Given the description of an element on the screen output the (x, y) to click on. 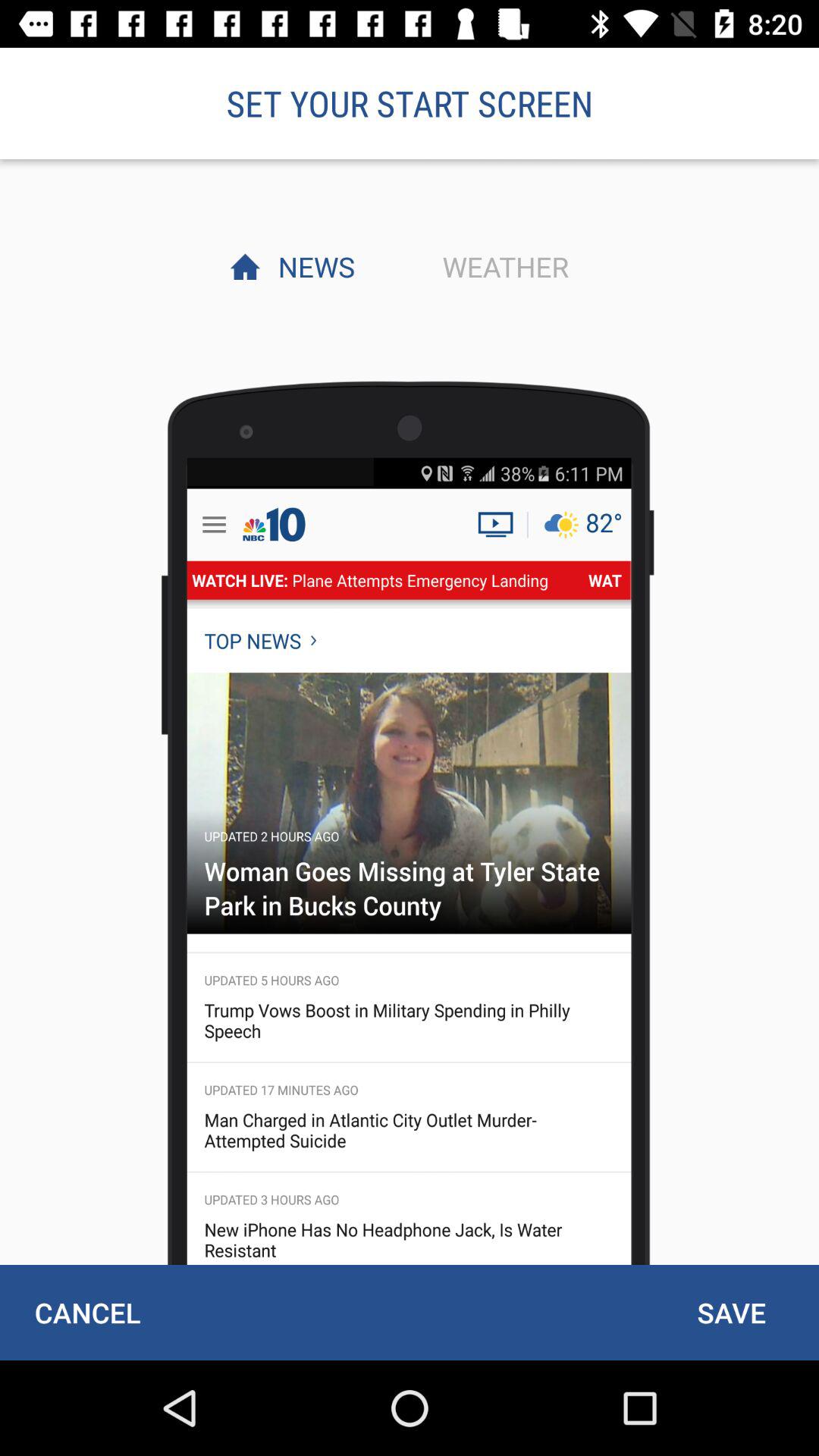
turn on the icon below the set your start (312, 266)
